Given the description of an element on the screen output the (x, y) to click on. 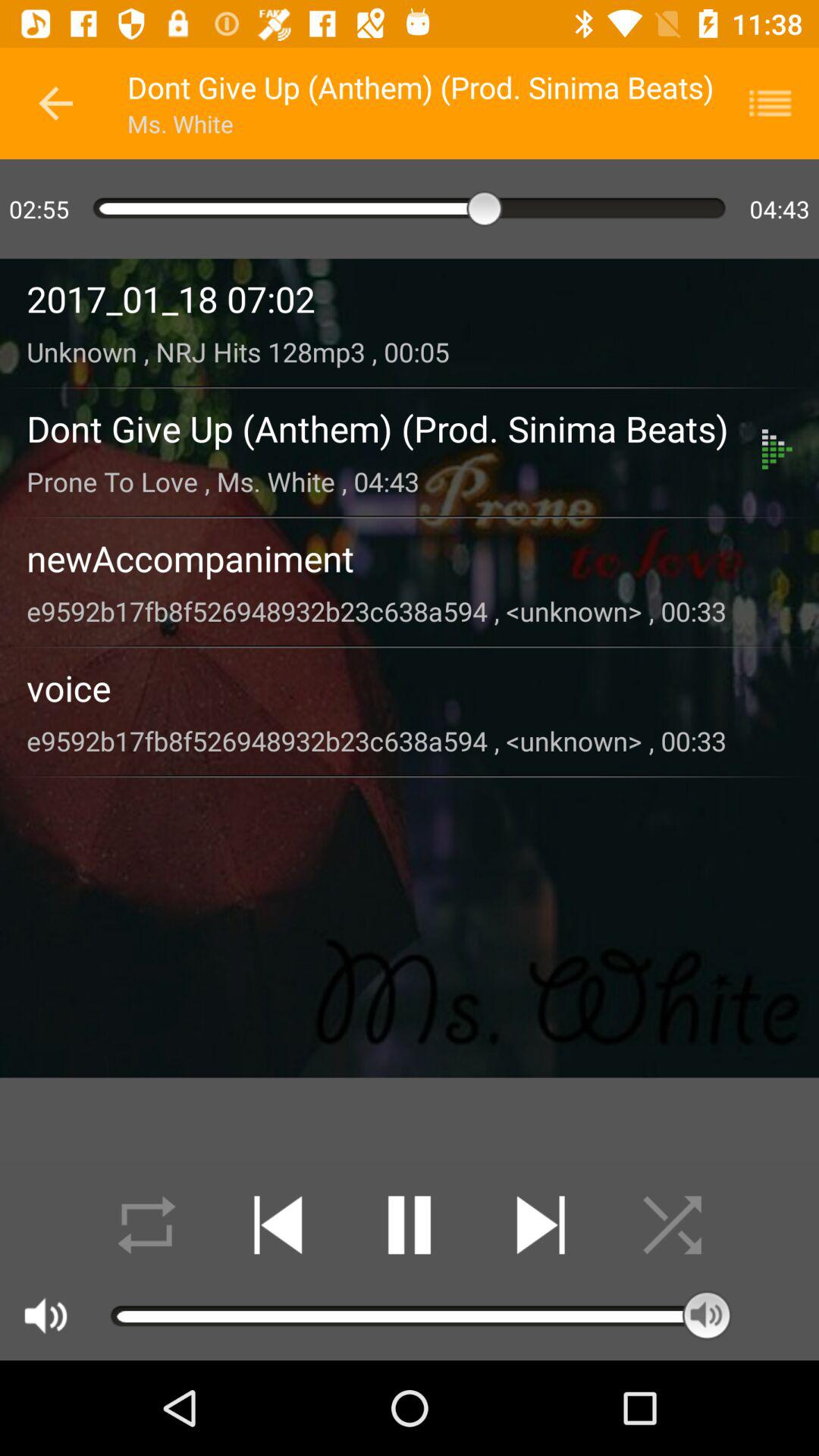
play random music (672, 1224)
